Given the description of an element on the screen output the (x, y) to click on. 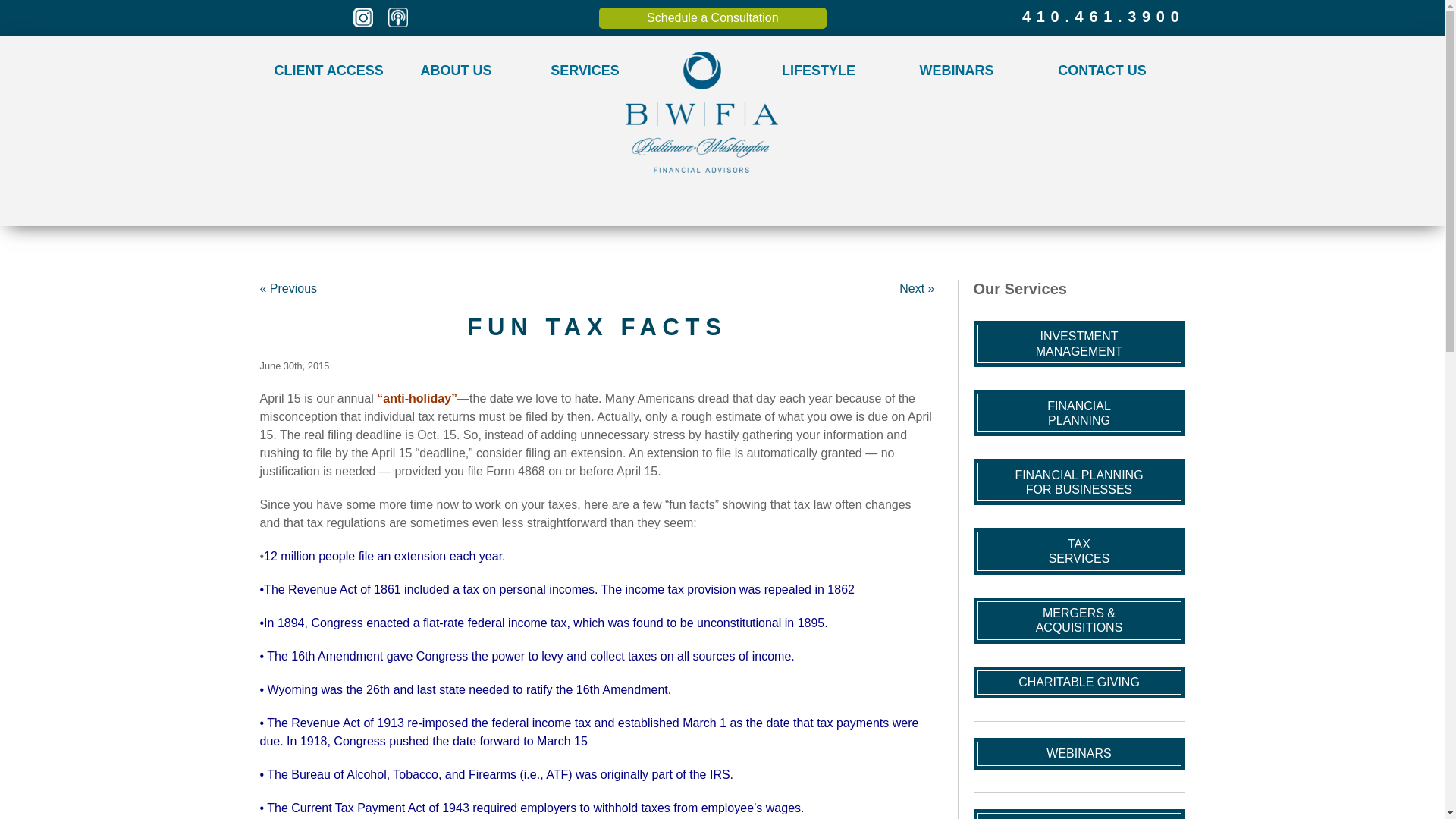
ABOUT US (455, 70)
SERVICES (584, 70)
Schedule a Consultation (712, 17)
CLIENT ACCESS (326, 70)
410.461.3900 (1030, 18)
Baltimore-Washington Financial Advisors (701, 111)
